Given the description of an element on the screen output the (x, y) to click on. 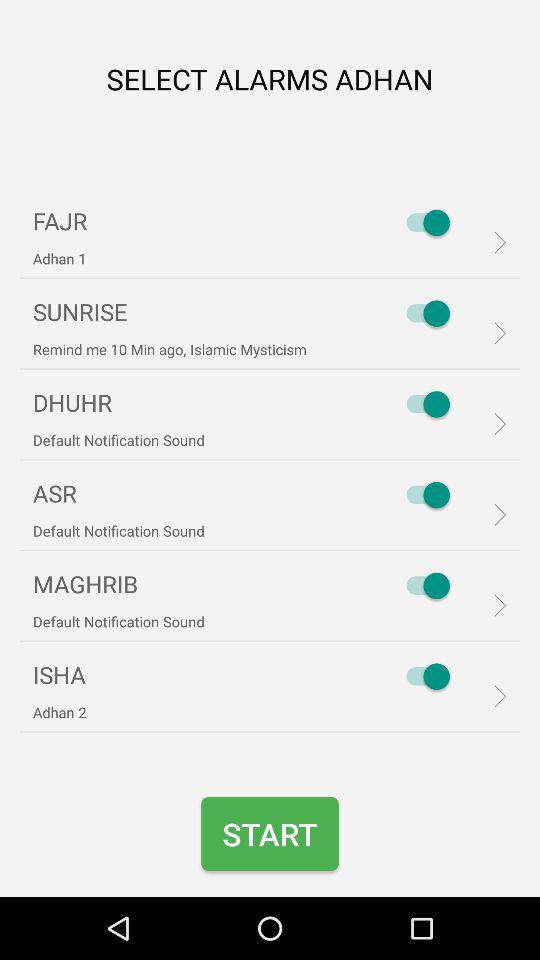
toggle isha option (423, 676)
